Given the description of an element on the screen output the (x, y) to click on. 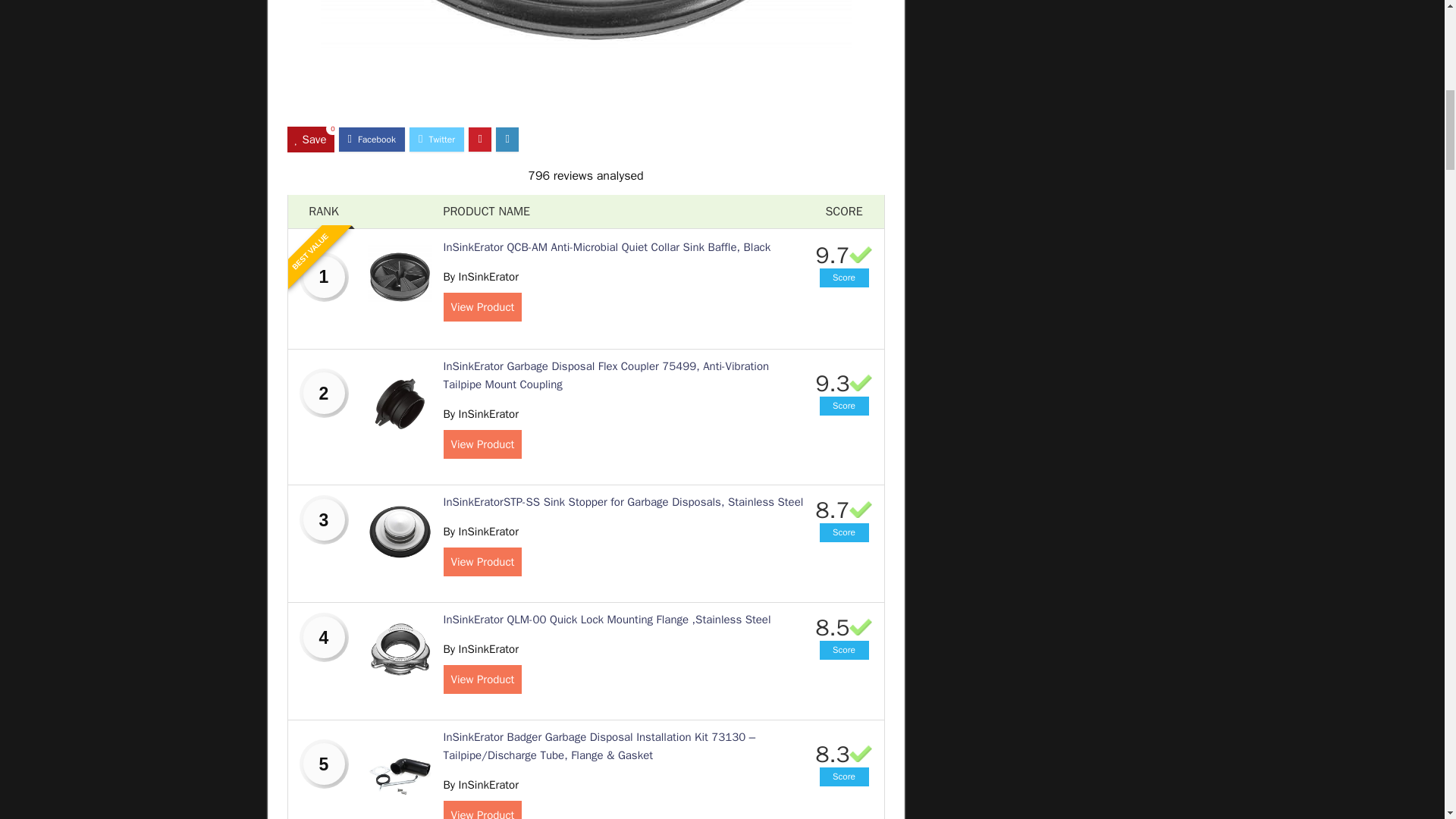
View Product (481, 306)
View Product (481, 561)
By InSinkErator (480, 276)
By InSinkErator (480, 649)
By InSinkErator (480, 784)
View Product (481, 443)
By InSinkErator (480, 413)
By InSinkErator (480, 531)
View Product (481, 679)
View Product (481, 809)
